Given the description of an element on the screen output the (x, y) to click on. 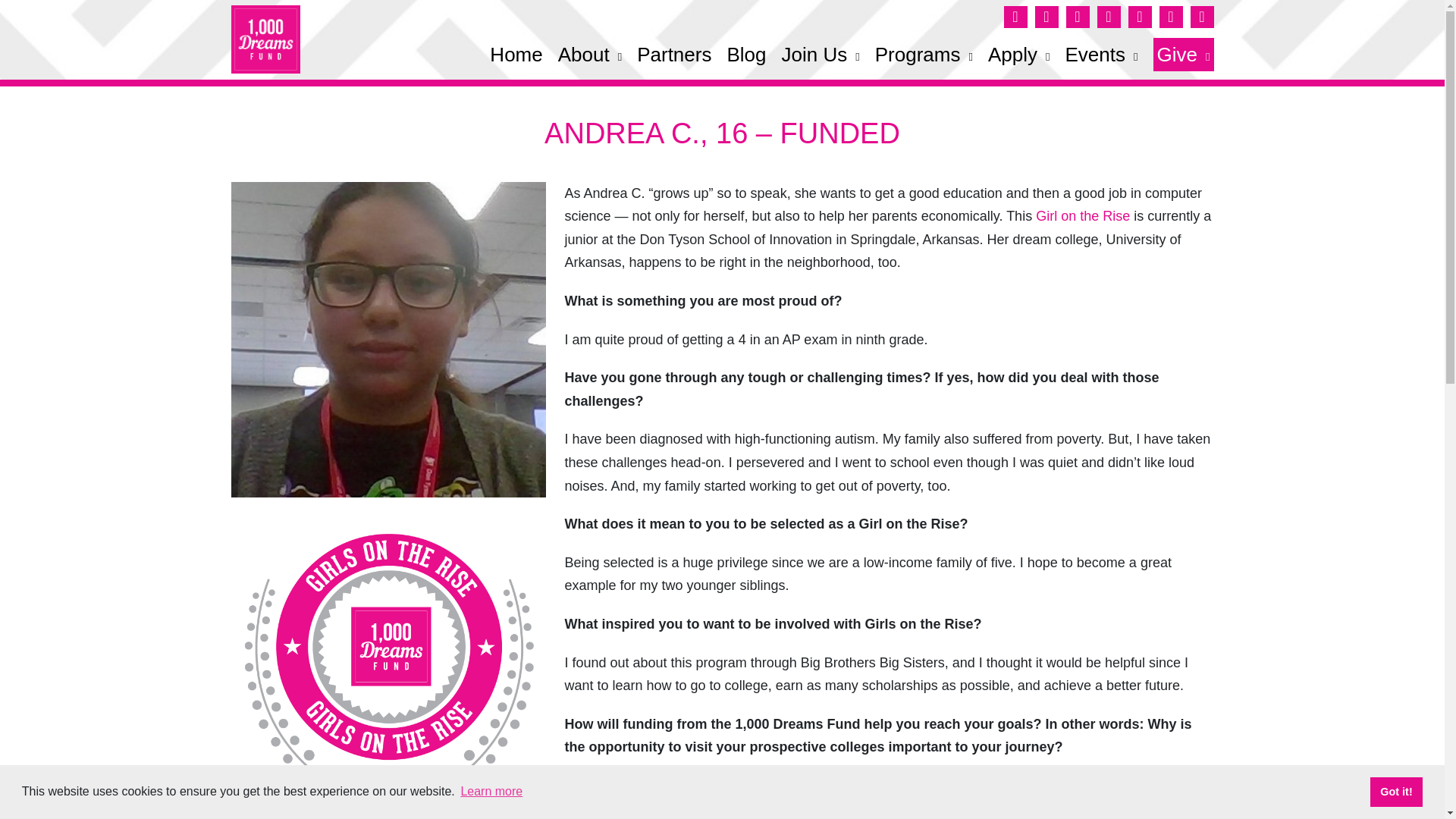
Blog (745, 54)
Programs (923, 54)
Got it! (1396, 791)
Learn more (491, 791)
Join Us (819, 54)
Partners (674, 54)
About (589, 54)
Home (515, 54)
